Given the description of an element on the screen output the (x, y) to click on. 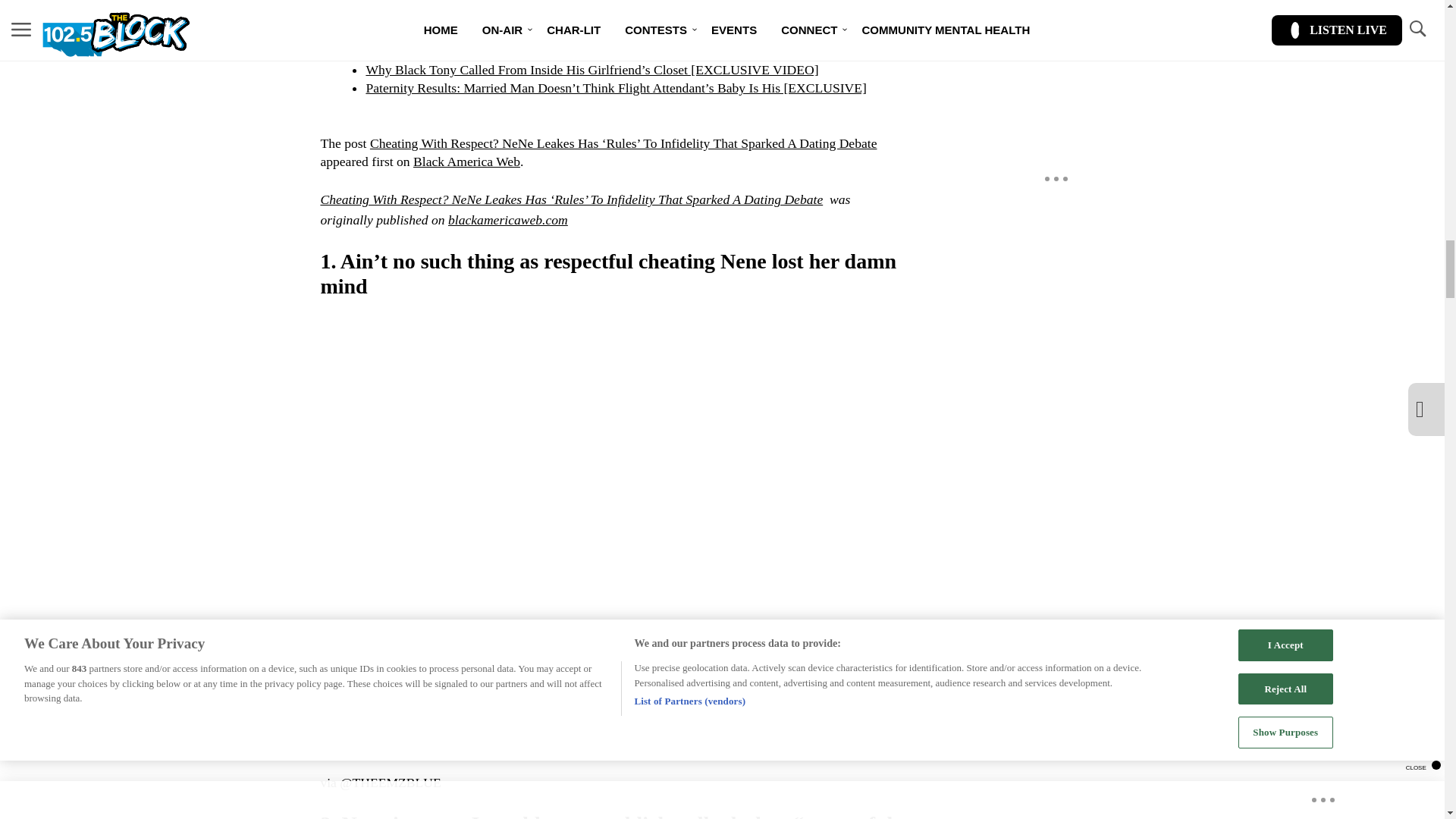
Black America Web (466, 160)
